Given the description of an element on the screen output the (x, y) to click on. 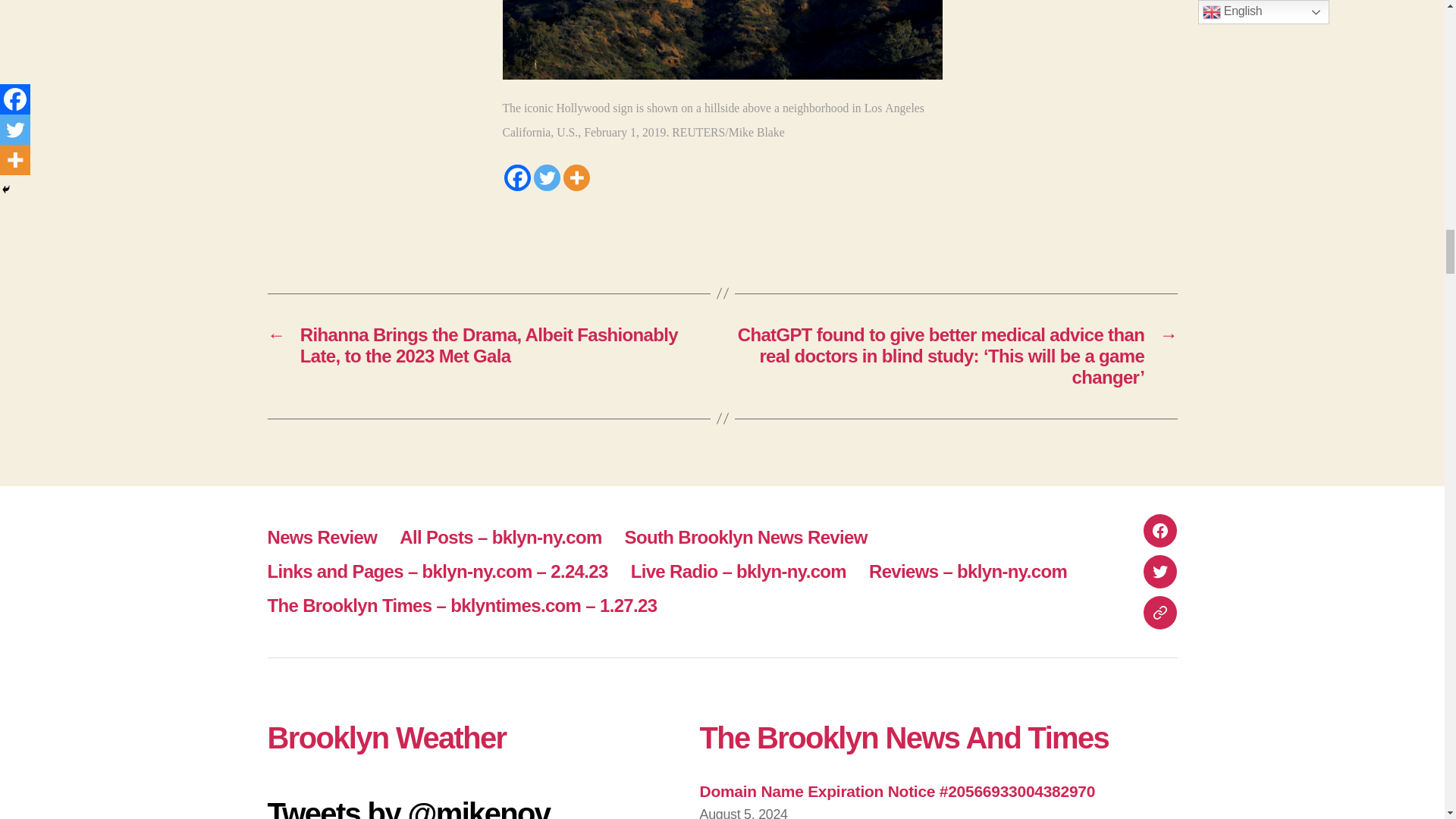
Twitter (547, 177)
Facebook (516, 177)
More (575, 177)
